Given the description of an element on the screen output the (x, y) to click on. 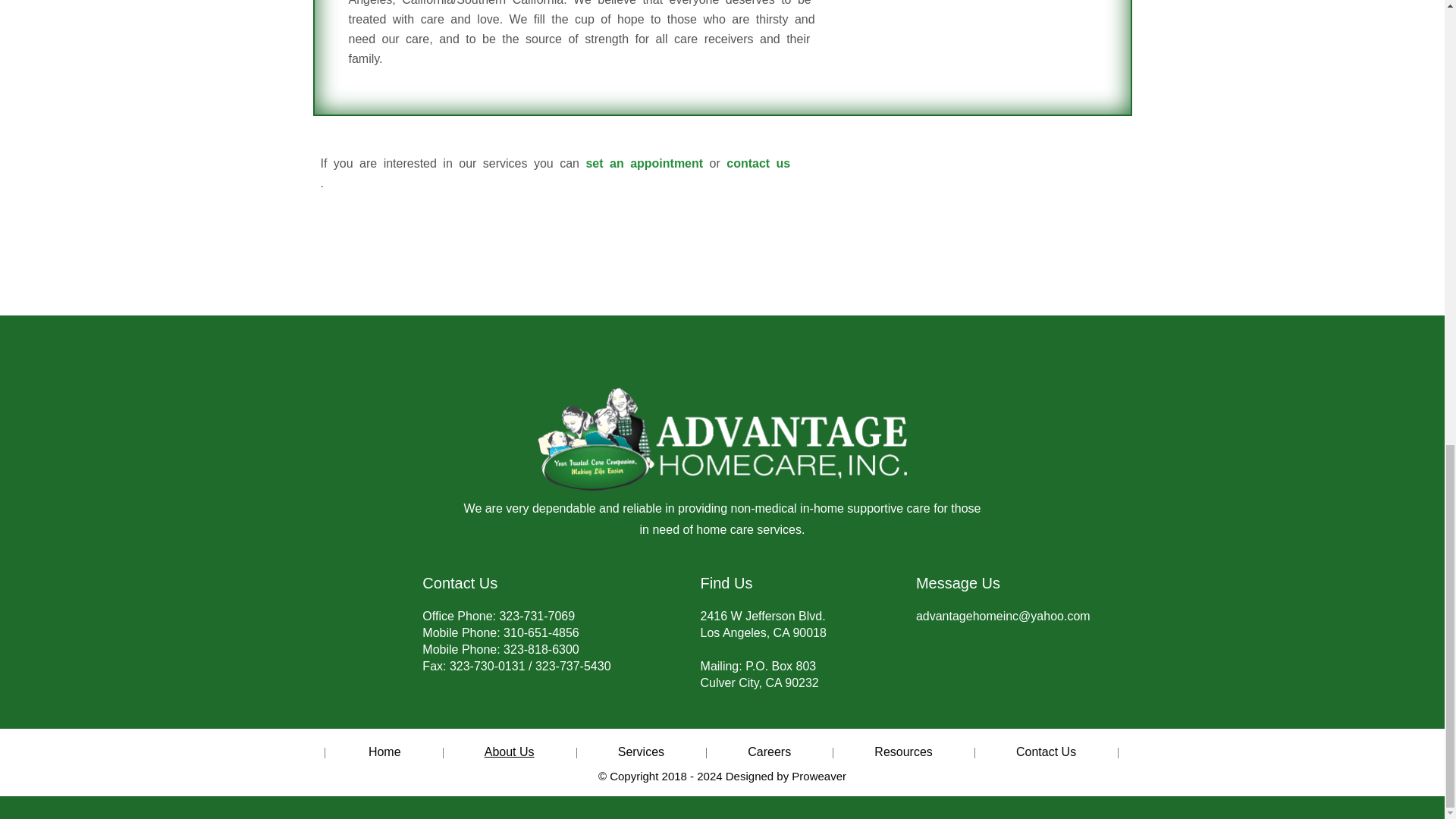
Services (640, 751)
contact us (758, 163)
Careers (768, 751)
Resources (902, 751)
set an appointment (644, 163)
About Us (509, 751)
Proweaver (818, 775)
Contact Us (1046, 751)
Home (385, 751)
